Given the description of an element on the screen output the (x, y) to click on. 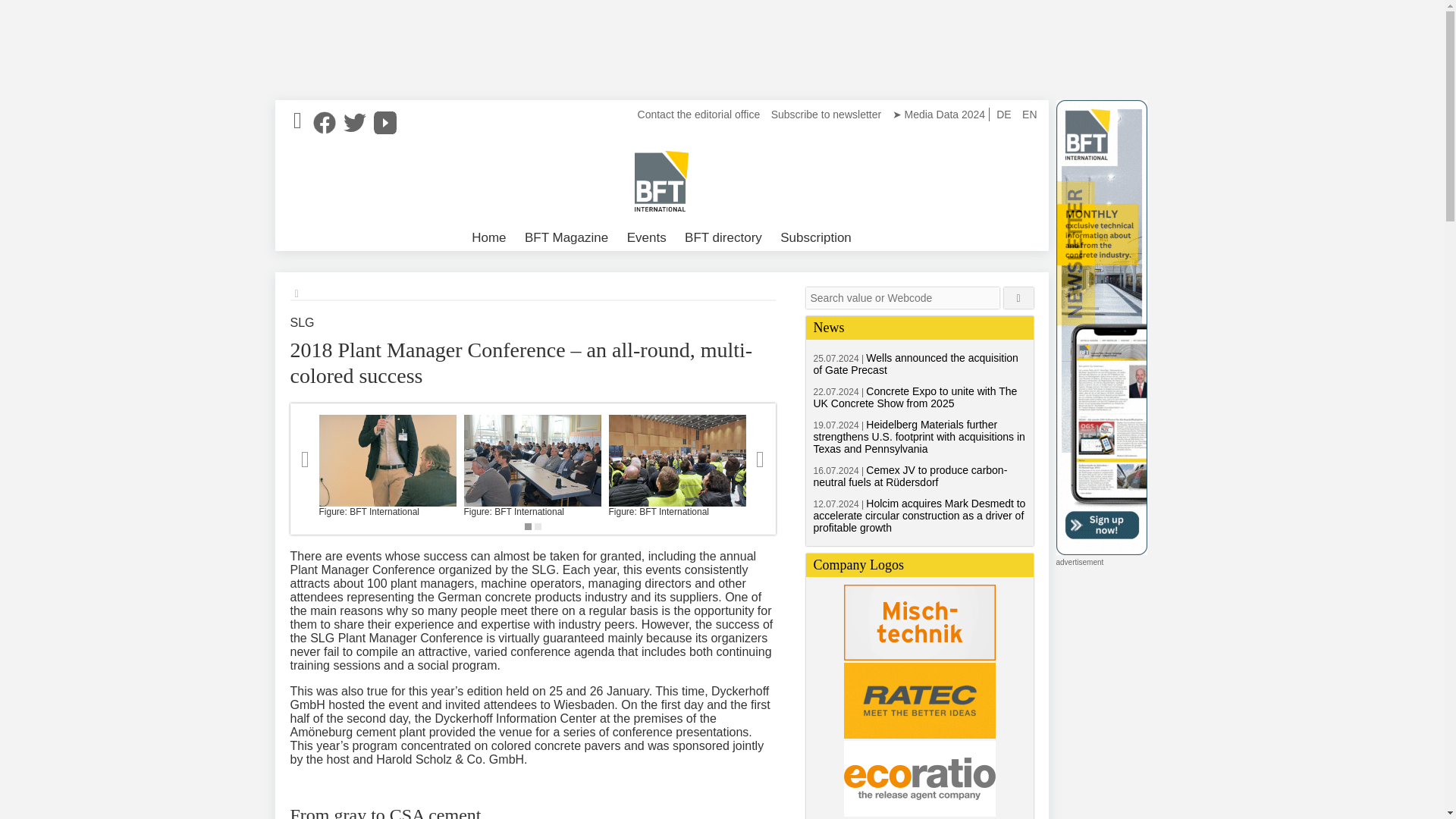
Search value or Webcode (901, 297)
Contact the editorial office (698, 114)
Subscribe to newsletter (826, 114)
BFT directory (723, 238)
Subscription (816, 238)
DE (1003, 114)
Events (647, 238)
EN (1029, 114)
Suchen (1018, 297)
BFT Magazine (565, 238)
Home (488, 238)
